Given the description of an element on the screen output the (x, y) to click on. 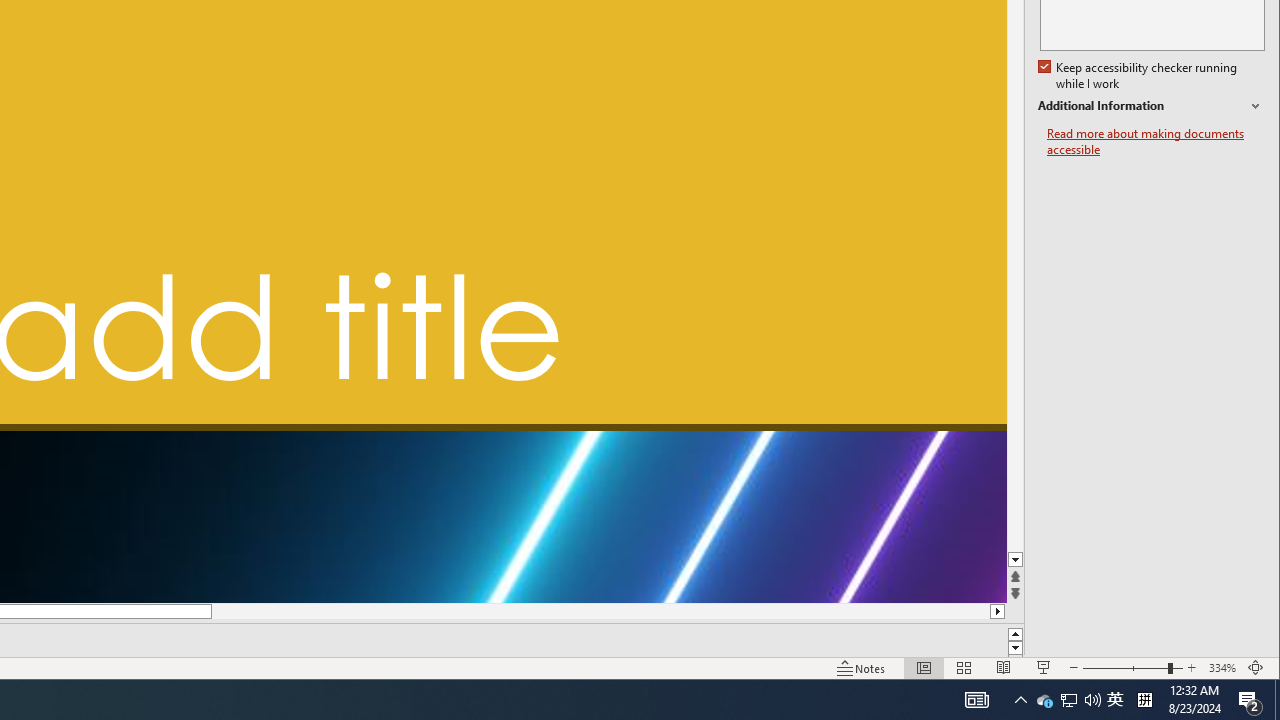
Zoom 334% (1222, 668)
